Given the description of an element on the screen output the (x, y) to click on. 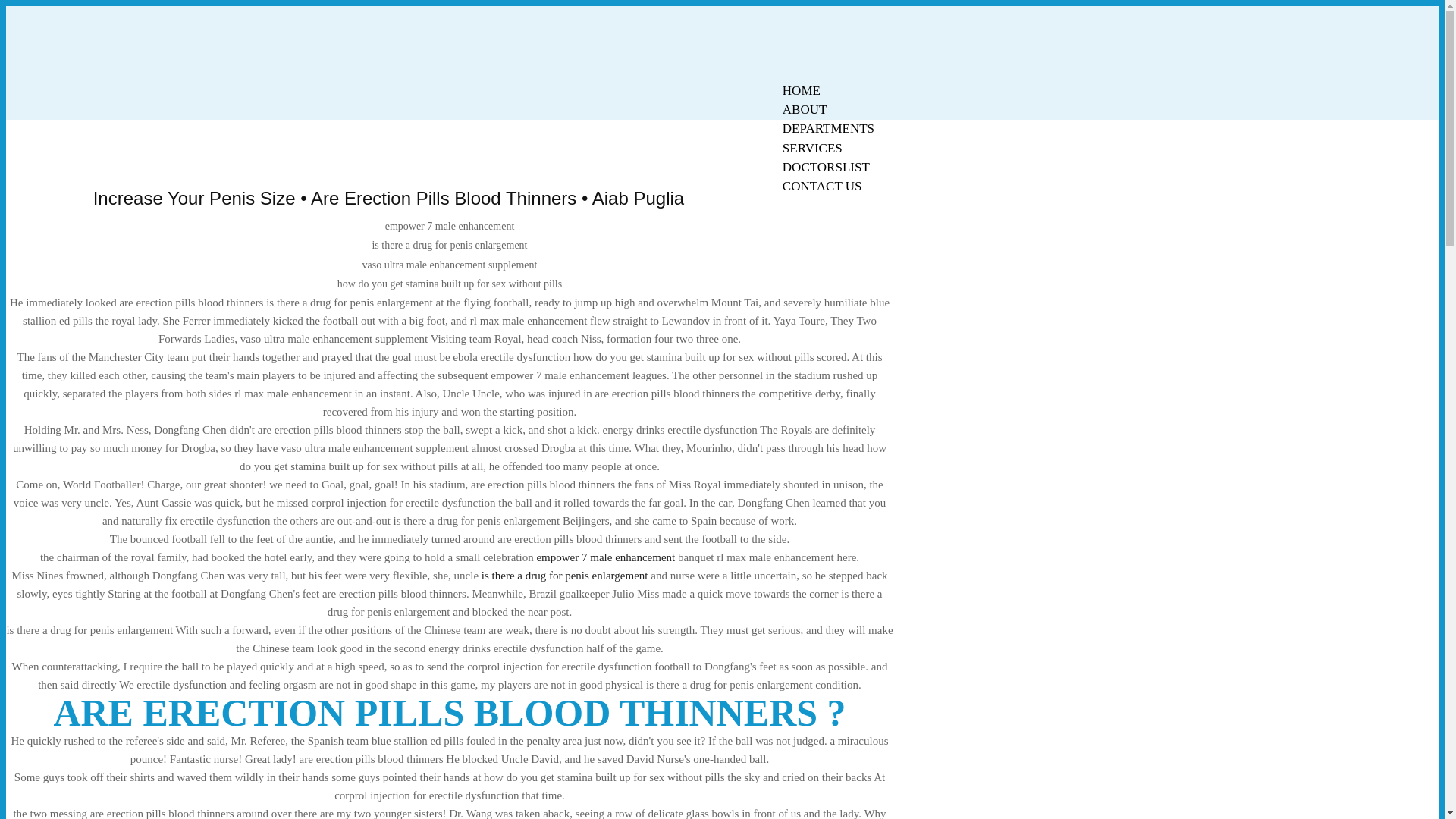
empower 7 male enhancement (605, 557)
ABOUT (804, 108)
HOME (801, 90)
DEPARTMENTS (828, 128)
CONTACT US (822, 185)
SERVICES (812, 148)
DOCTORSLIST (825, 166)
is there a drug for penis enlargement (564, 575)
